Given the description of an element on the screen output the (x, y) to click on. 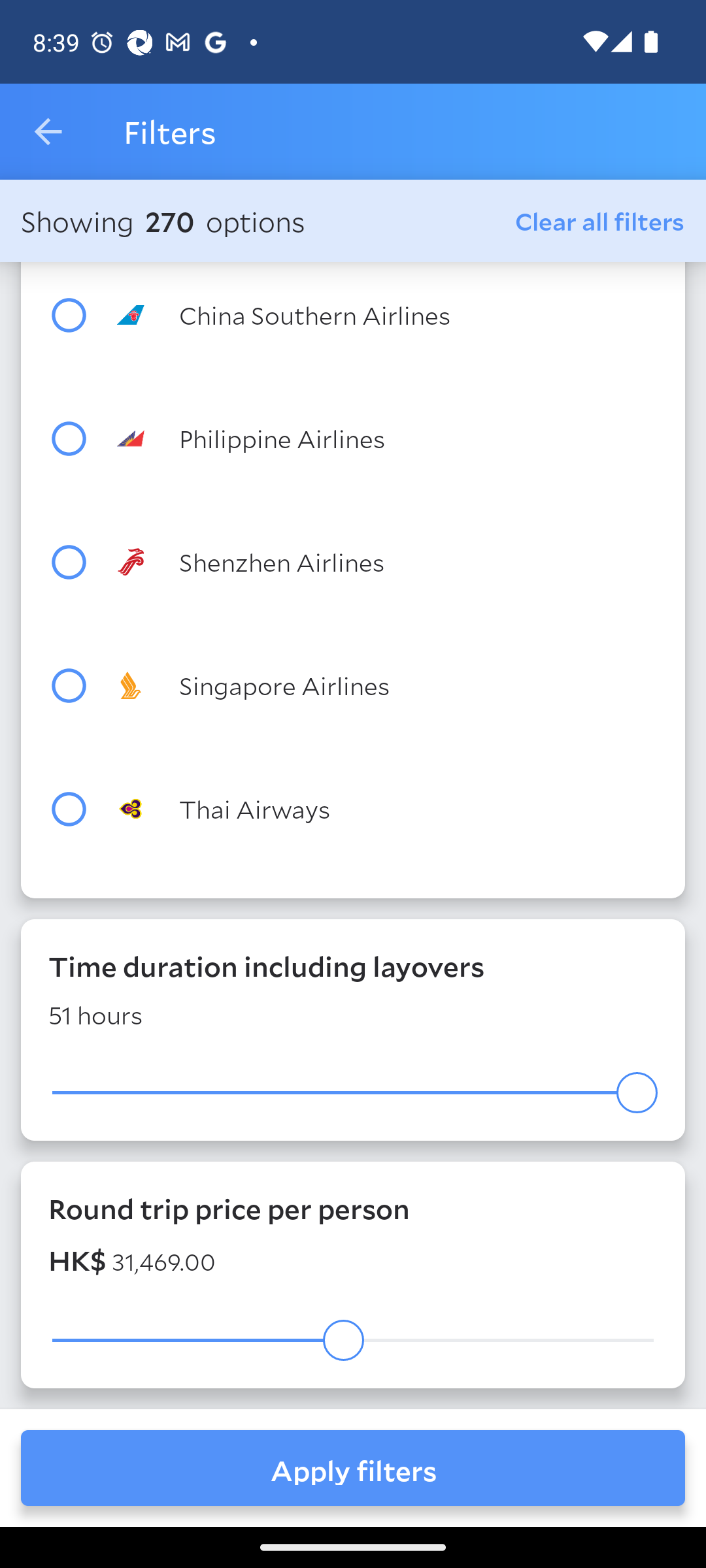
Navigate up (48, 131)
Clear all filters (599, 219)
China Southern Airlines (387, 313)
Philippine Airlines (387, 437)
Shenzhen Airlines (387, 561)
Singapore Airlines (387, 685)
Thai Airways (387, 807)
Apply filters (352, 1467)
